Given the description of an element on the screen output the (x, y) to click on. 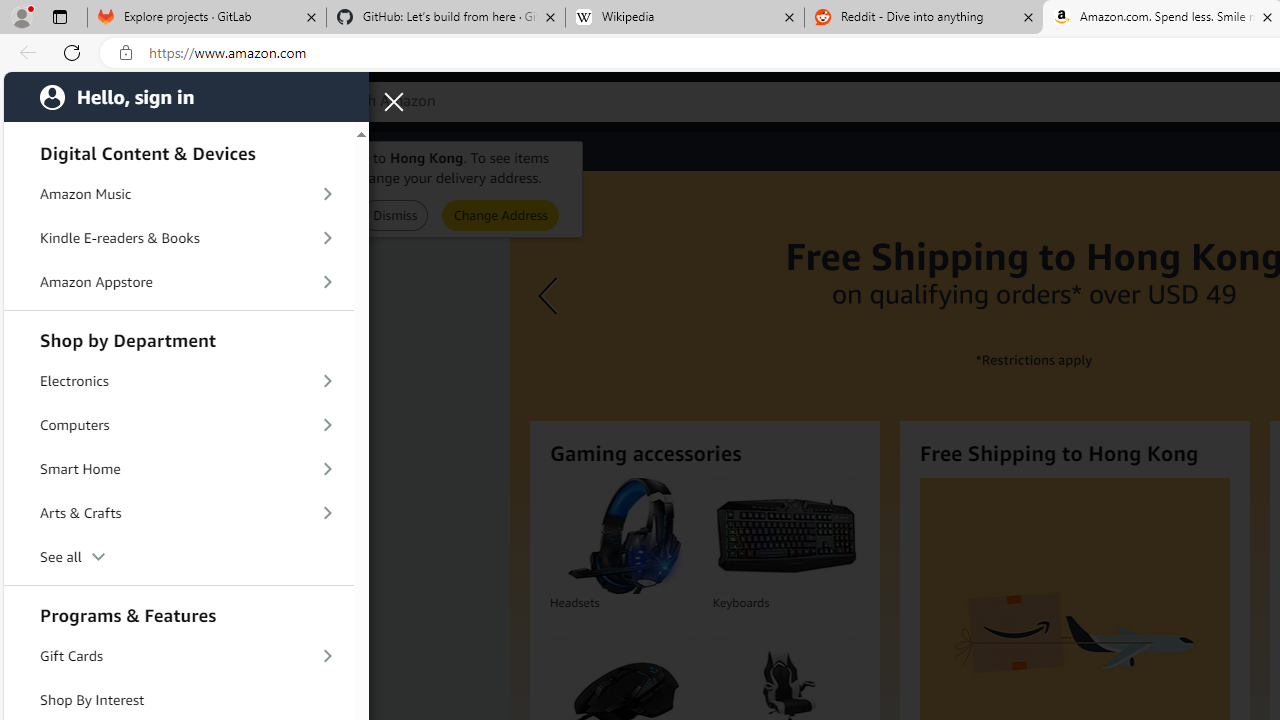
See all (178, 556)
Kindle E-readers & Books (178, 238)
Reddit - Dive into anything (924, 17)
Shop by Department (178, 338)
Arts & Crafts (178, 512)
Gift Cards (178, 656)
Wikipedia (684, 17)
Smart Home (178, 469)
See all (178, 557)
Gift Cards (178, 655)
Electronics (178, 381)
Smart Home (178, 468)
Computers (178, 424)
